Given the description of an element on the screen output the (x, y) to click on. 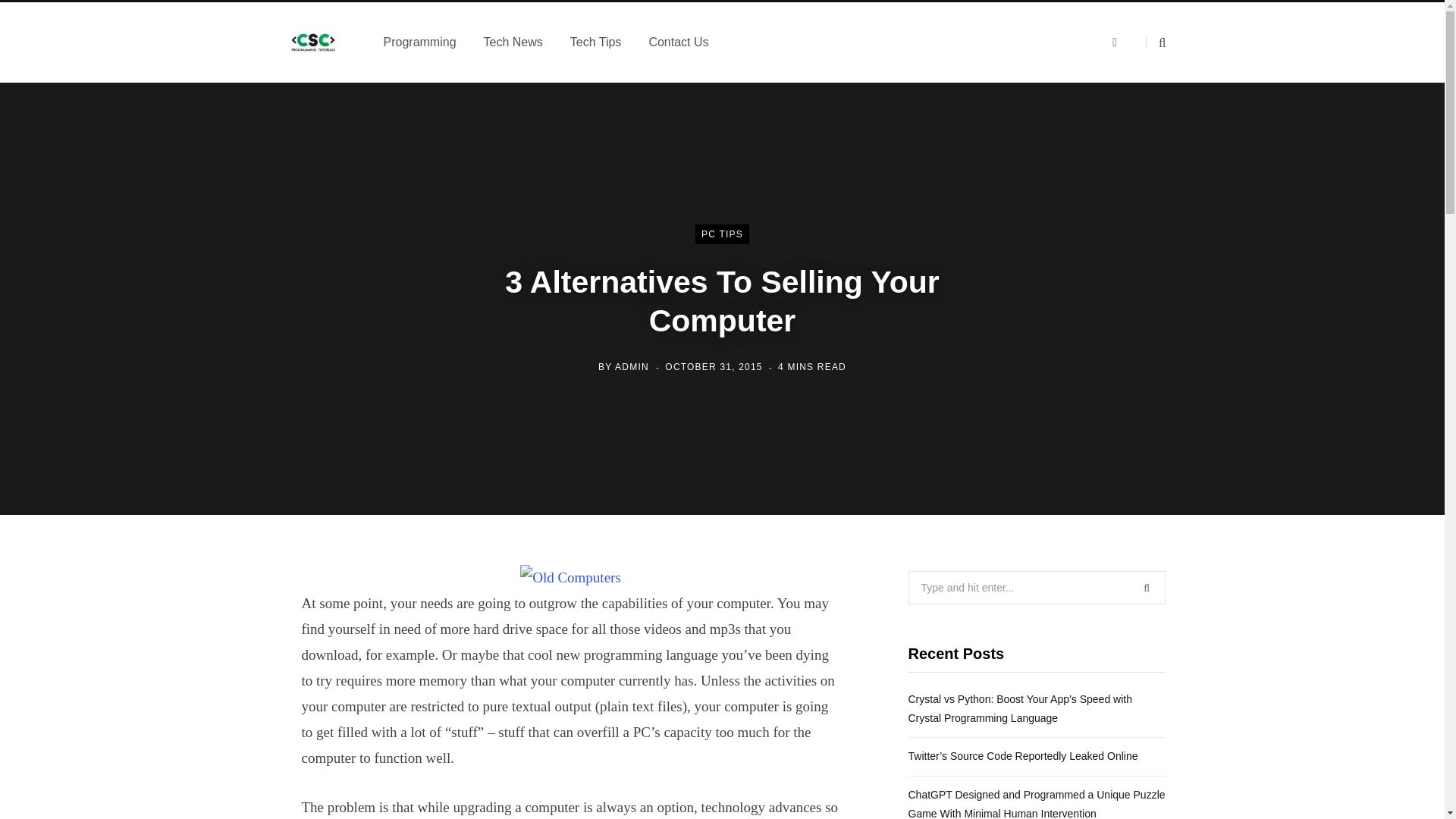
ADMIN (631, 366)
Tech Tips (595, 41)
Programming (419, 41)
Posts by Admin (631, 366)
PC TIPS (722, 234)
Search (1155, 42)
Computer Science Programming Tutorials (313, 42)
Contact Us (678, 41)
Tech News (513, 41)
